Given the description of an element on the screen output the (x, y) to click on. 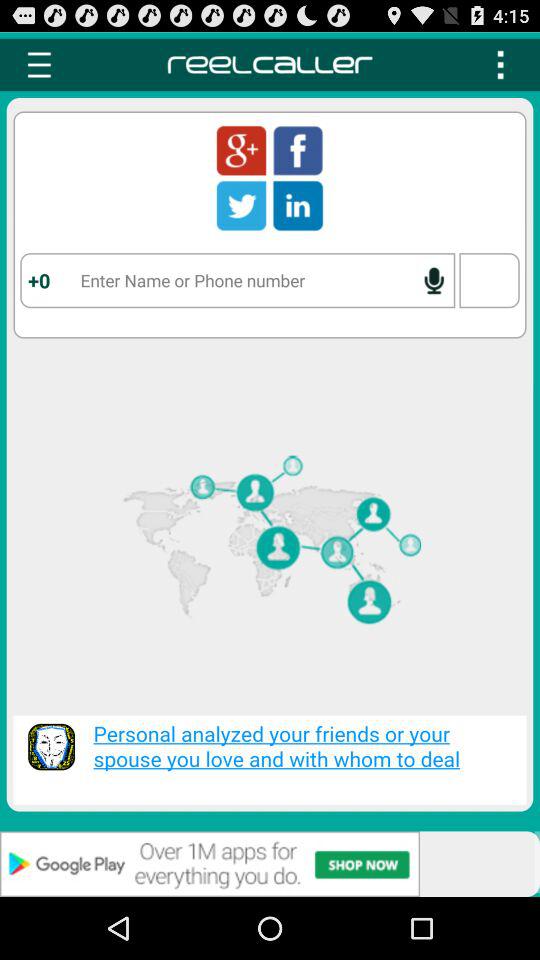
go to google (241, 150)
